Given the description of an element on the screen output the (x, y) to click on. 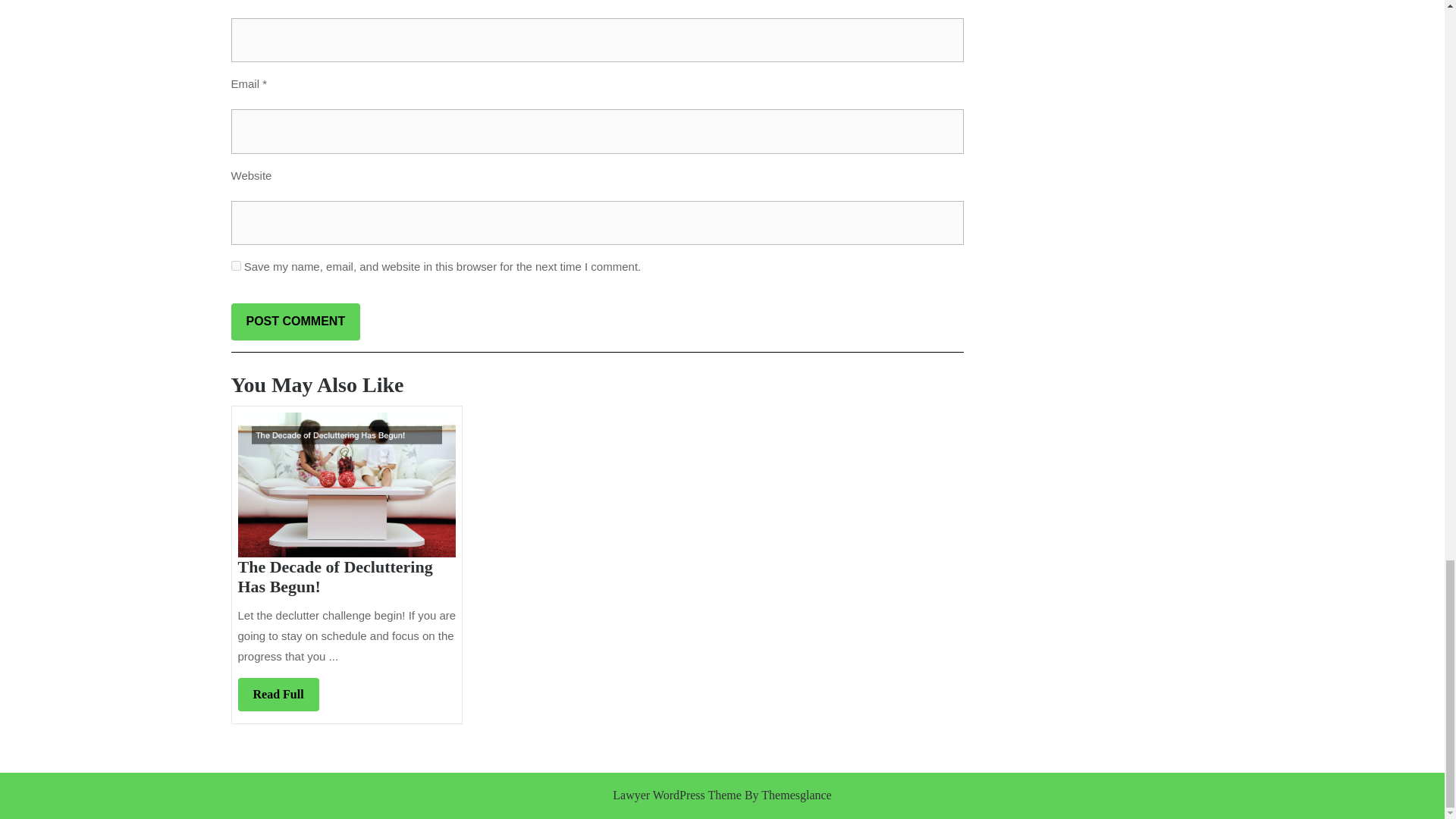
Lawyer WordPress Theme (676, 794)
Post Comment (294, 321)
yes (235, 266)
Post Comment (278, 694)
